Given the description of an element on the screen output the (x, y) to click on. 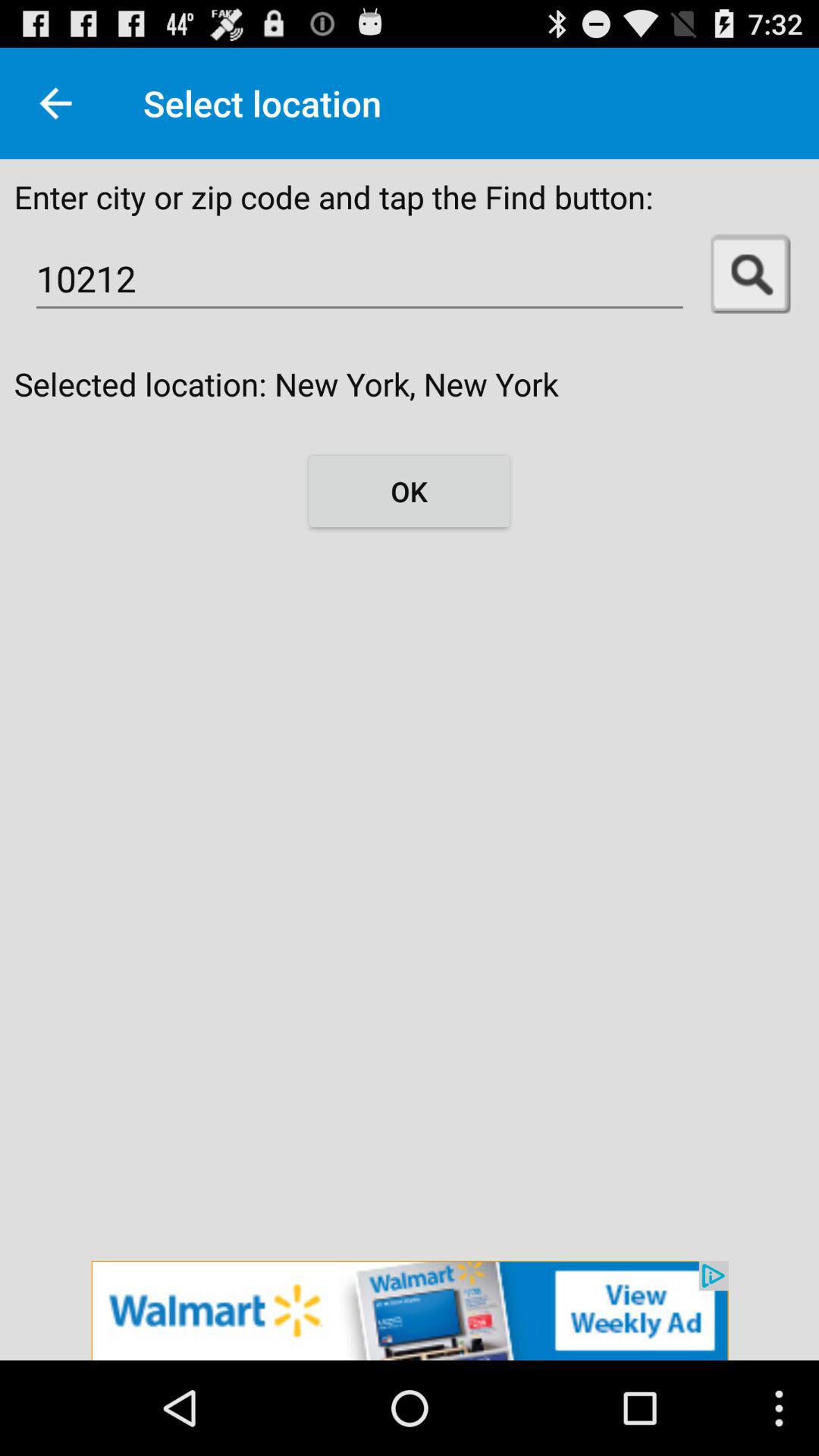
advertisement (409, 1310)
